Given the description of an element on the screen output the (x, y) to click on. 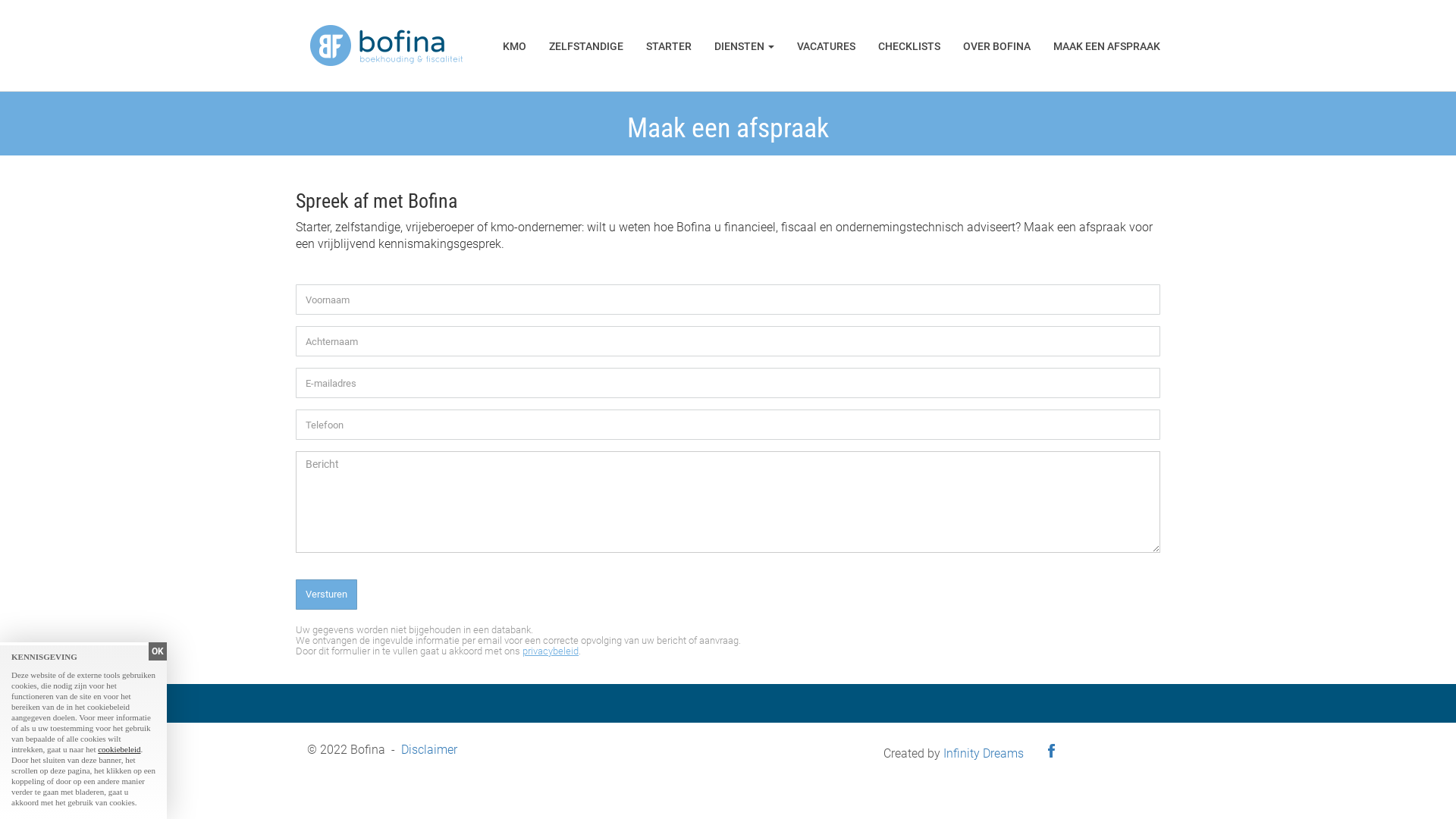
VACATURES Element type: text (825, 46)
ZELFSTANDIGE Element type: text (585, 46)
privacybeleid Element type: text (550, 650)
Disclaimer Element type: text (429, 749)
Infinity Dreams Element type: text (983, 753)
KMO Element type: text (514, 46)
cookiebeleid Element type: text (118, 748)
CHECKLISTS Element type: text (908, 46)
DIENSTEN Element type: text (743, 46)
OVER BOFINA Element type: text (996, 46)
Versturen Element type: text (326, 594)
MAAK EEN AFSPRAAK Element type: text (1106, 46)
OK Element type: text (157, 651)
STARTER Element type: text (668, 46)
